Given the description of an element on the screen output the (x, y) to click on. 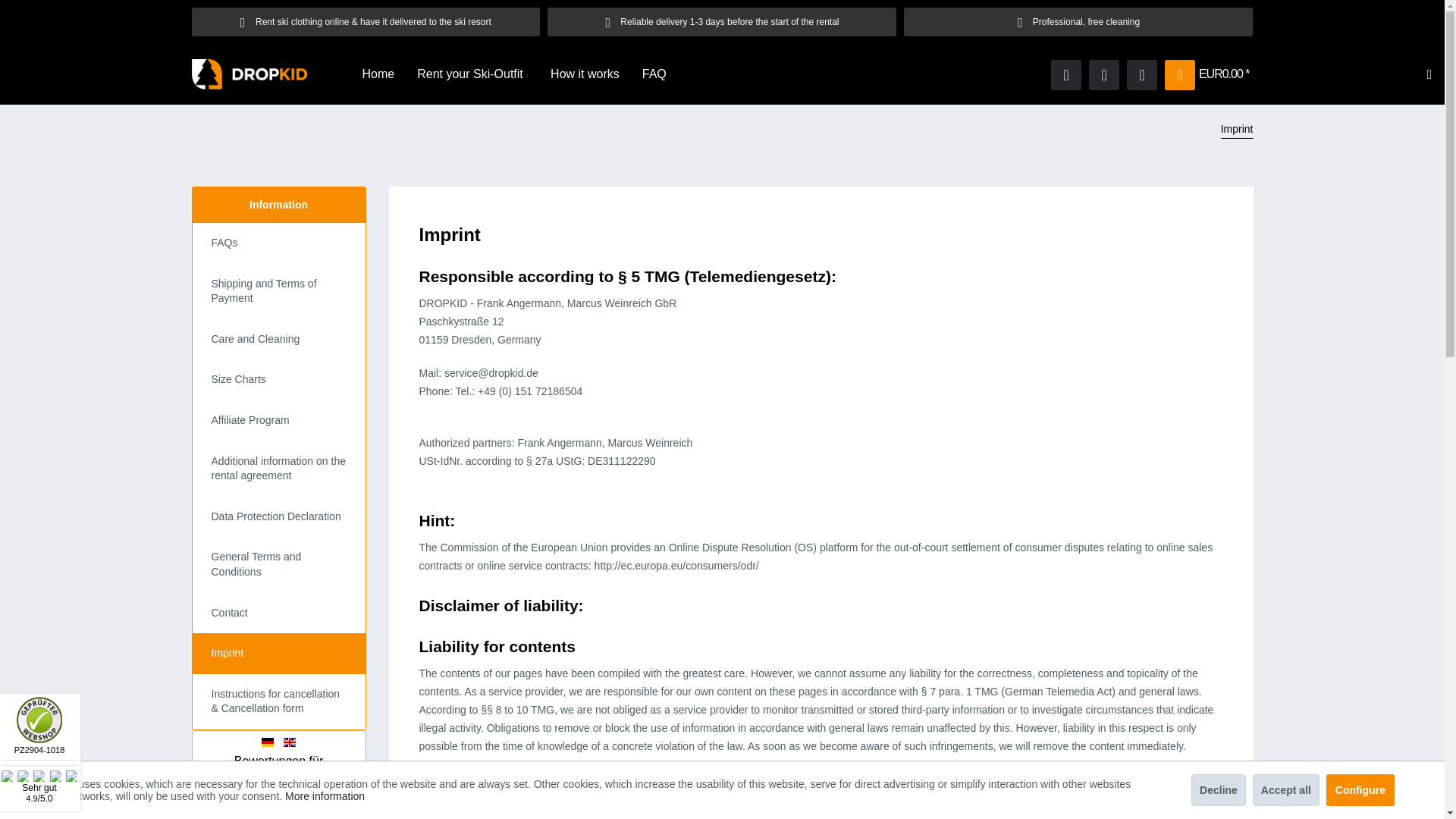
good (39, 776)
Home (668, 74)
Rent your Ski-Outfit (378, 74)
How it works (472, 74)
good (584, 74)
good (39, 776)
good (668, 74)
Rent your Ski-Outfit (23, 776)
How it works (55, 776)
PZ2904-1018 (472, 74)
good (584, 74)
Home (39, 749)
good (7, 776)
